Given the description of an element on the screen output the (x, y) to click on. 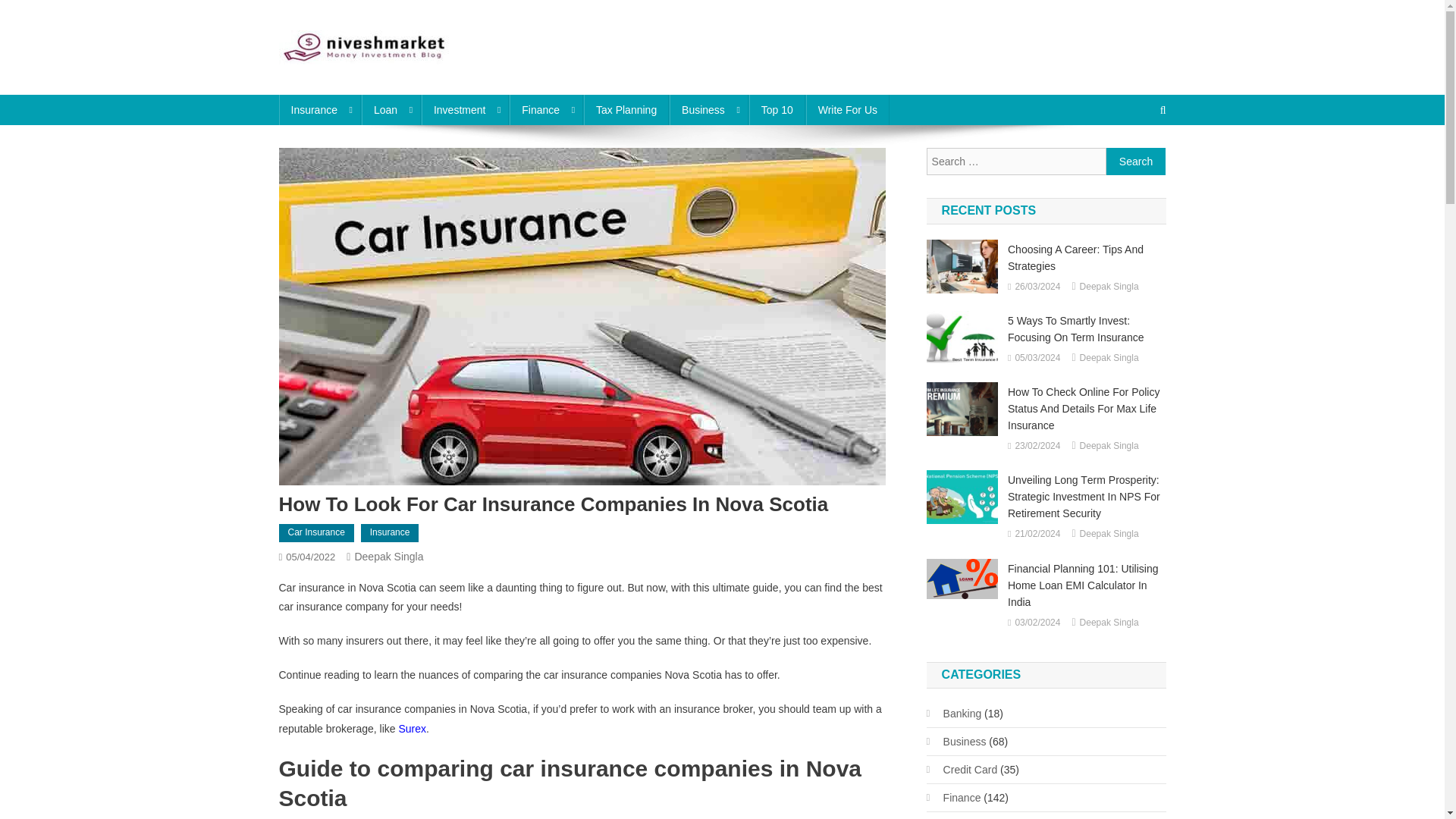
Insurance (390, 533)
Insurance (320, 110)
Finance (546, 110)
Business (708, 110)
Search (1133, 160)
Loan (390, 110)
Top 10 (777, 110)
Search (1136, 161)
Tax Planning (625, 110)
Investment (465, 110)
